Given the description of an element on the screen output the (x, y) to click on. 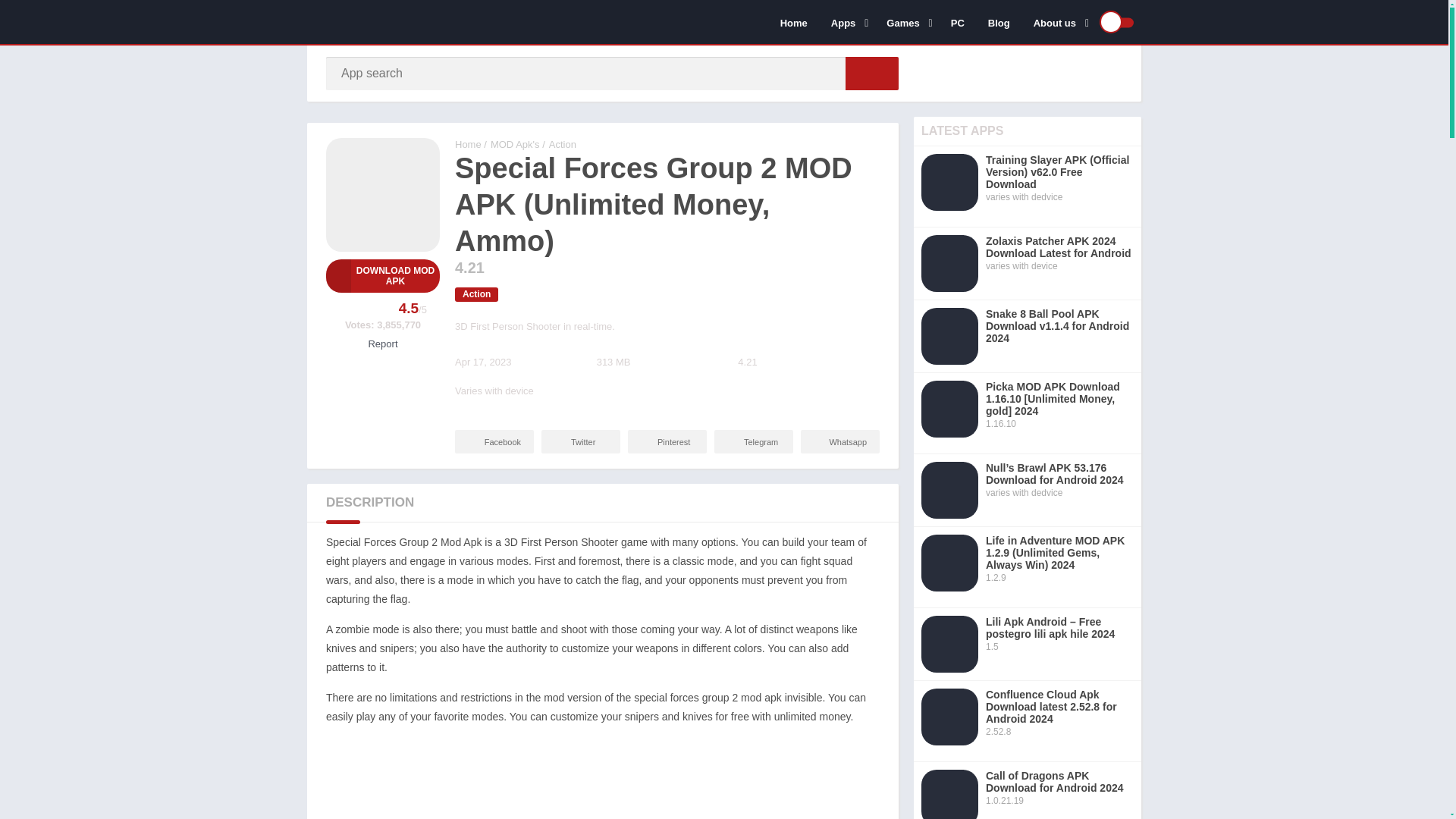
App search (871, 73)
Games (906, 22)
Download MOD Apk (382, 275)
apkpuro (467, 143)
Home (793, 22)
About us (1058, 22)
PC (957, 22)
Blog (999, 22)
Apps (847, 22)
